Given the description of an element on the screen output the (x, y) to click on. 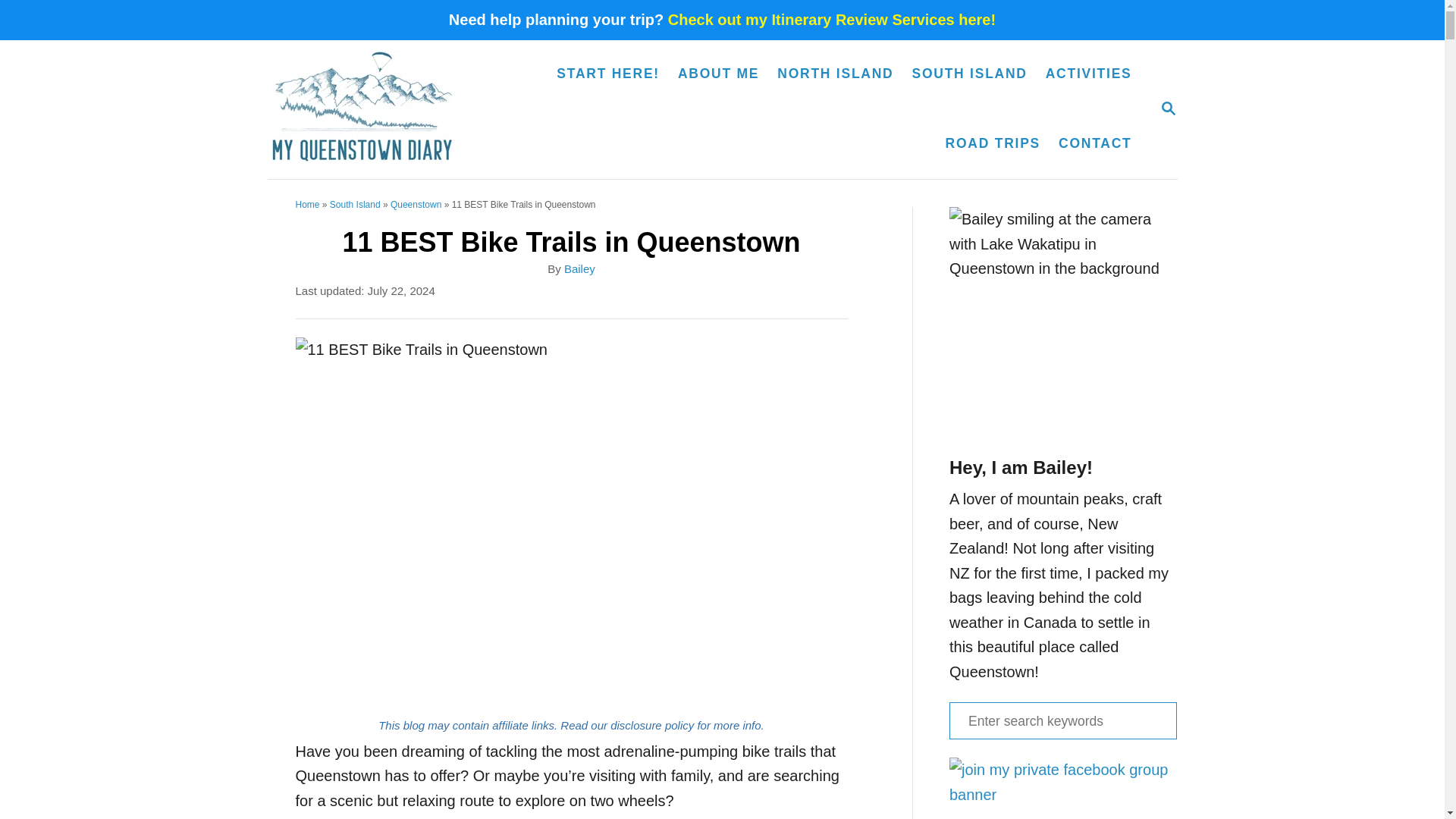
Search for: (1062, 720)
NORTH ISLAND (835, 73)
ACTIVITIES (1088, 73)
ABOUT ME (718, 73)
Check out my Itinerary Review Services here! (831, 19)
My Queenstown Diary (370, 109)
MAGNIFYING GLASS (1167, 108)
START HERE! (1167, 109)
SOUTH ISLAND (607, 73)
